Given the description of an element on the screen output the (x, y) to click on. 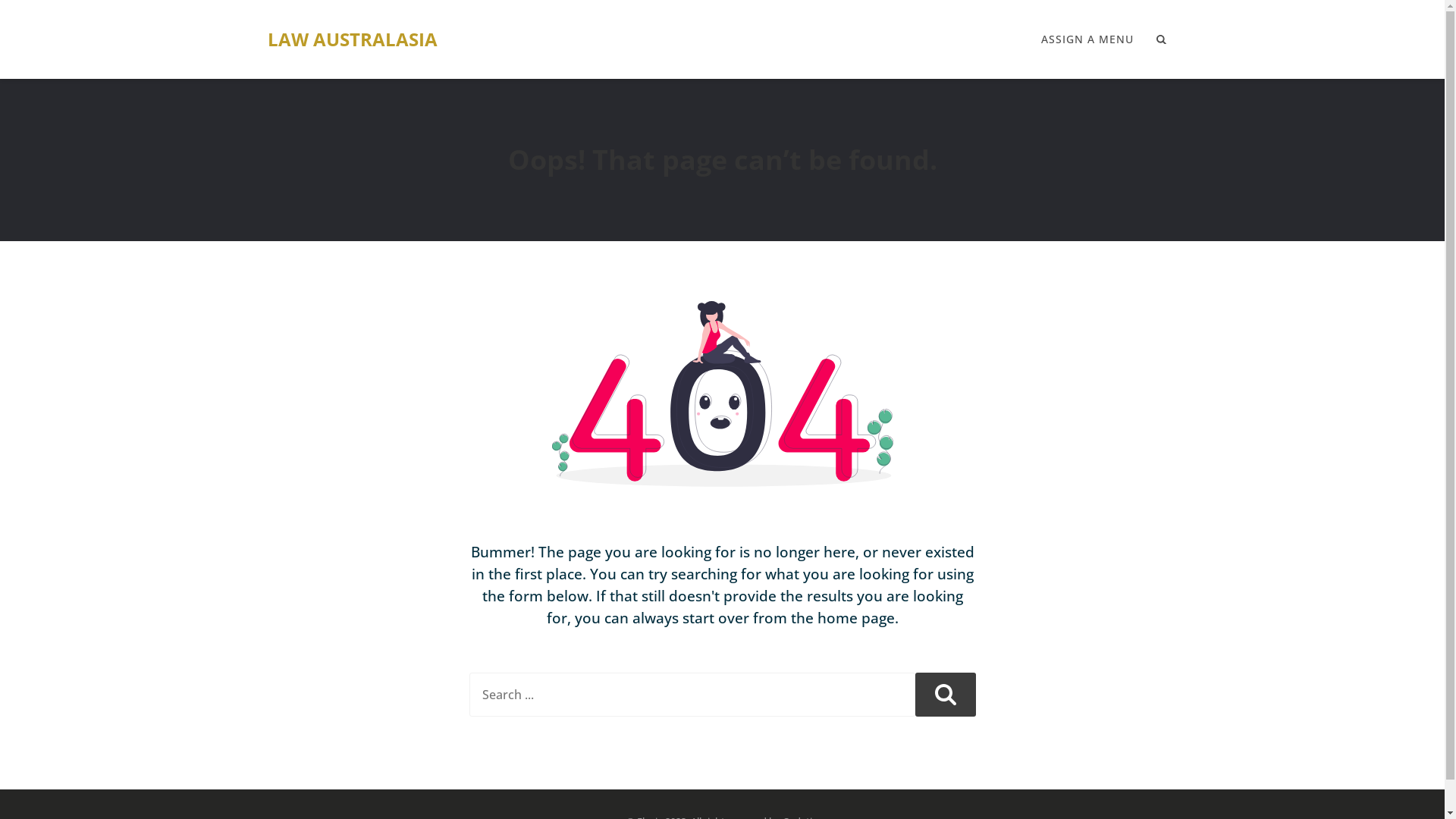
ASSIGN A MENU Element type: text (1087, 39)
LAW AUSTRALASIA Element type: text (351, 38)
Search for: Element type: hover (691, 694)
